Given the description of an element on the screen output the (x, y) to click on. 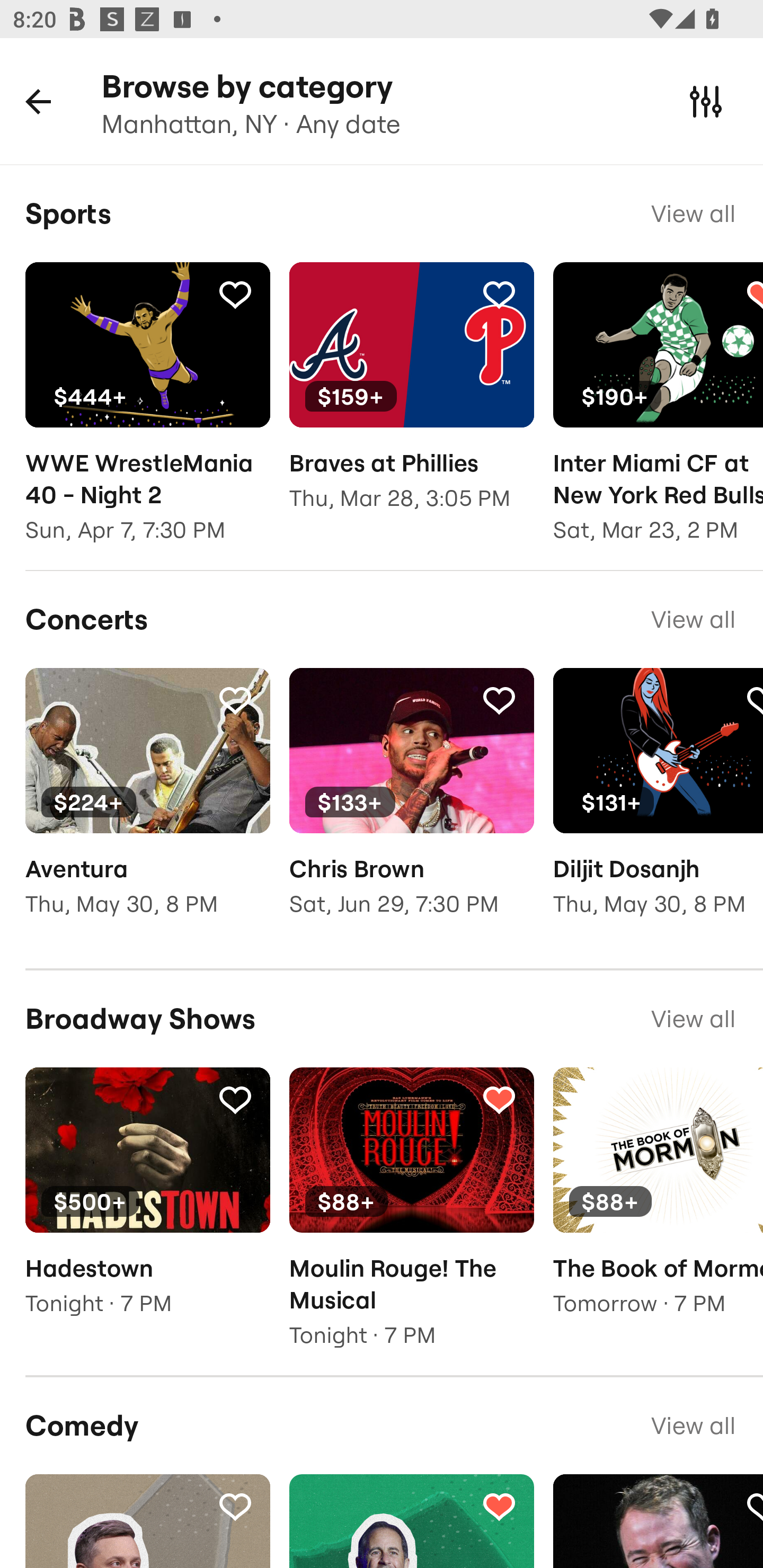
Back (38, 100)
Filters (705, 100)
View all (693, 212)
Tracking (234, 293)
Tracking (498, 293)
View all (693, 618)
Tracking $224+ Aventura Thu, May 30, 8 PM (147, 804)
Tracking $133+ Chris Brown Sat, Jun 29, 7:30 PM (411, 804)
Tracking $131+ Diljit Dosanjh Thu, May 30, 8 PM (658, 804)
Tracking (234, 699)
Tracking (498, 699)
View all (693, 1018)
Tracking $500+ Hadestown Tonight · 7 PM (147, 1204)
Tracking $88+ The Book of Mormon Tomorrow · 7 PM (658, 1204)
Tracking (234, 1098)
Tracking (498, 1098)
View all (693, 1424)
Tracking (234, 1505)
Tracking (498, 1505)
